Given the description of an element on the screen output the (x, y) to click on. 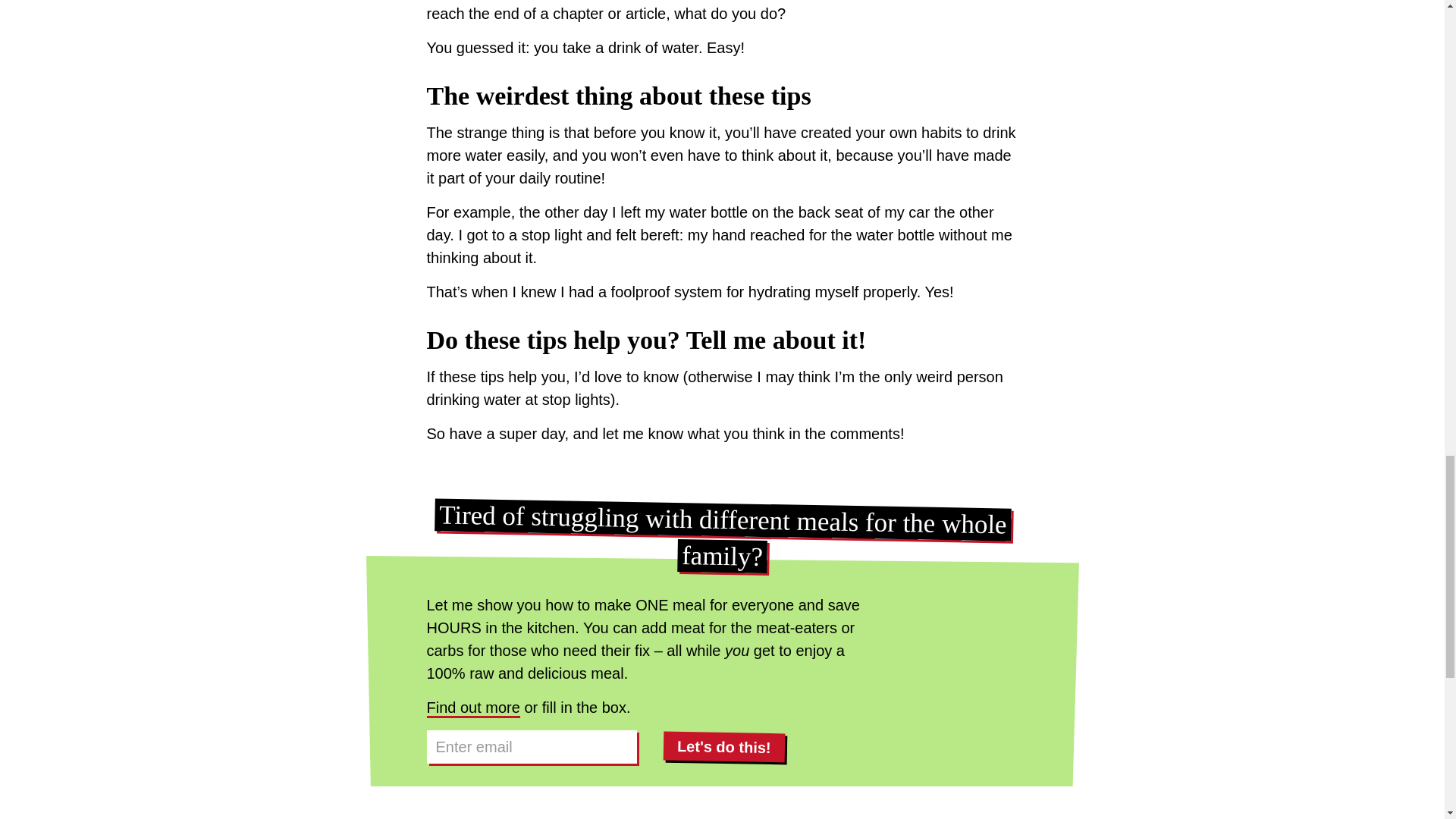
5 minute raw (472, 708)
Find out more (472, 708)
Let's do this! (723, 746)
Let's do this! (723, 746)
